Given the description of an element on the screen output the (x, y) to click on. 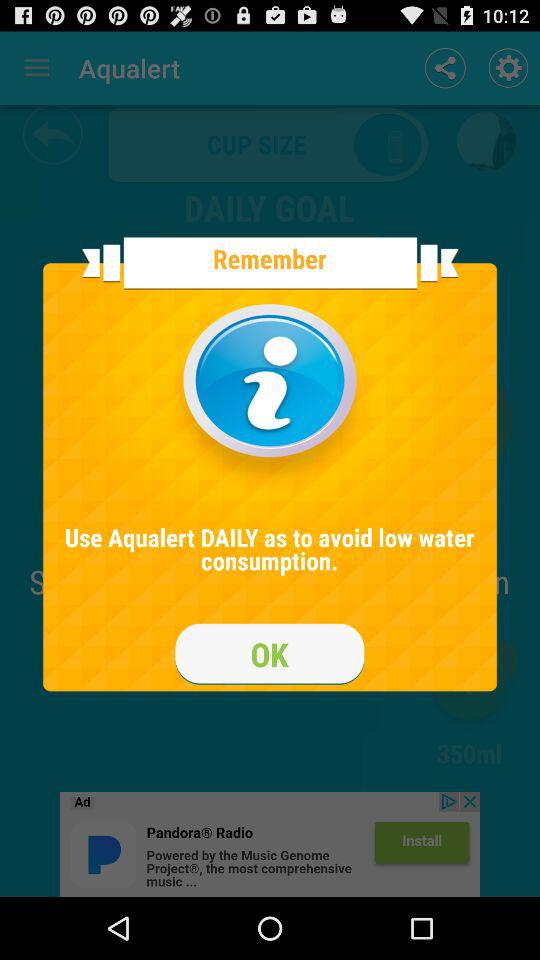
done option (269, 654)
